Given the description of an element on the screen output the (x, y) to click on. 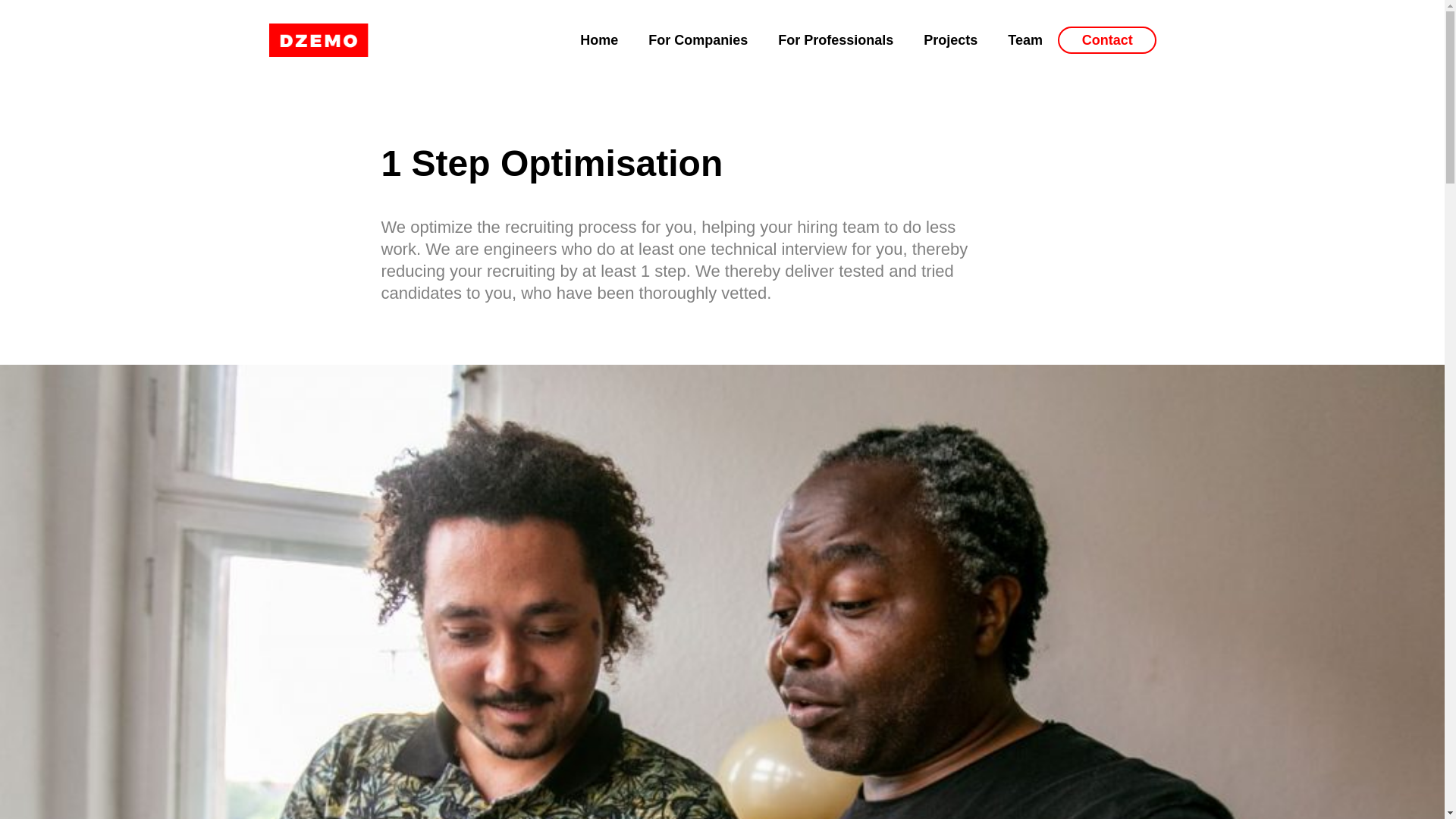
For Professionals (835, 39)
Home (598, 39)
Projects (950, 39)
For Companies (697, 39)
Team (1025, 39)
